Given the description of an element on the screen output the (x, y) to click on. 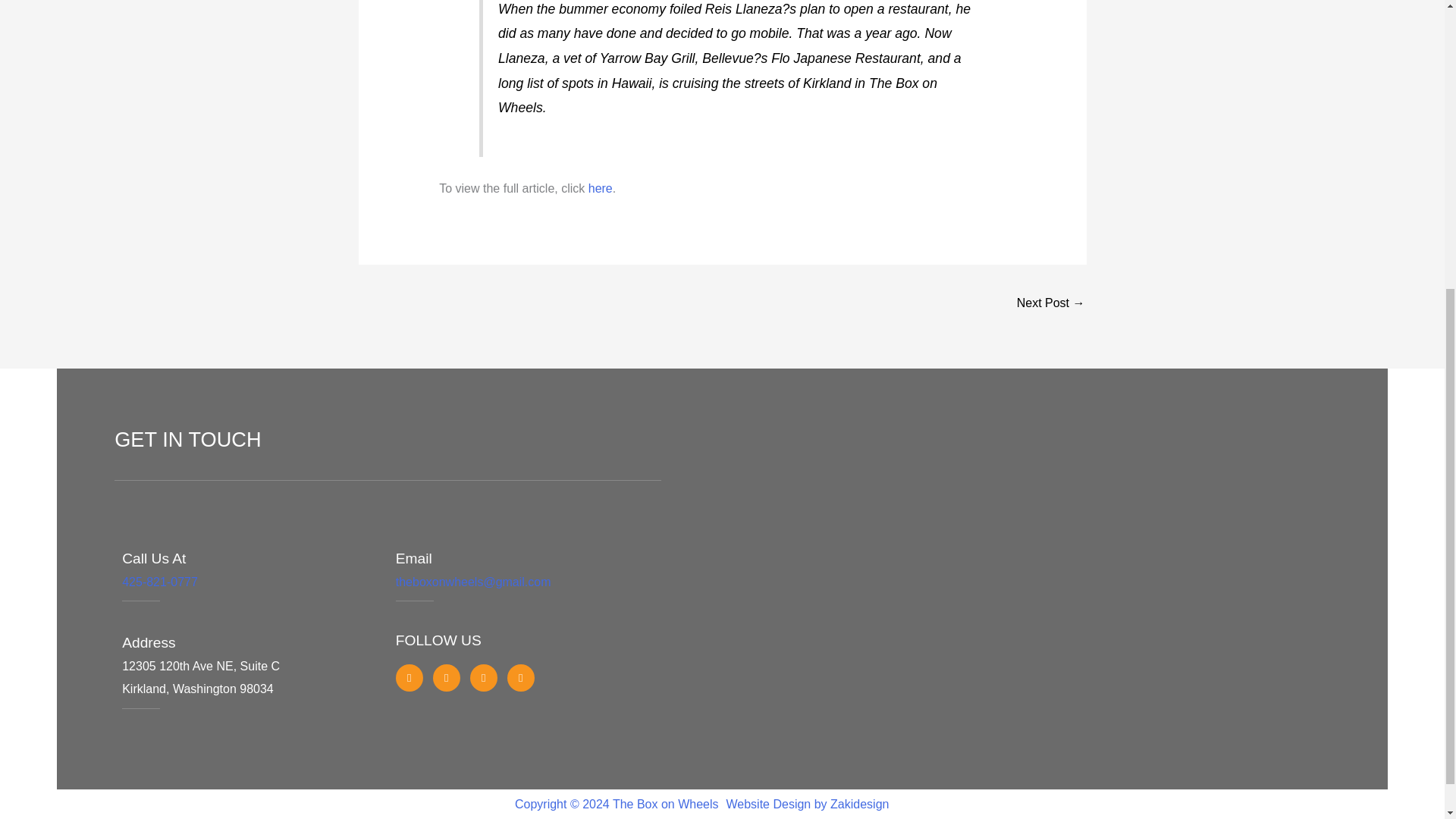
'The Box:' Asian-Fusion on Wheels (1050, 304)
Facebook (409, 677)
Instagram (483, 677)
here (600, 187)
The Seattle Met (600, 187)
425-821-0777 (160, 581)
Twitter (446, 677)
Website Design by Zakidesign (807, 803)
Yelp (520, 677)
